Given the description of an element on the screen output the (x, y) to click on. 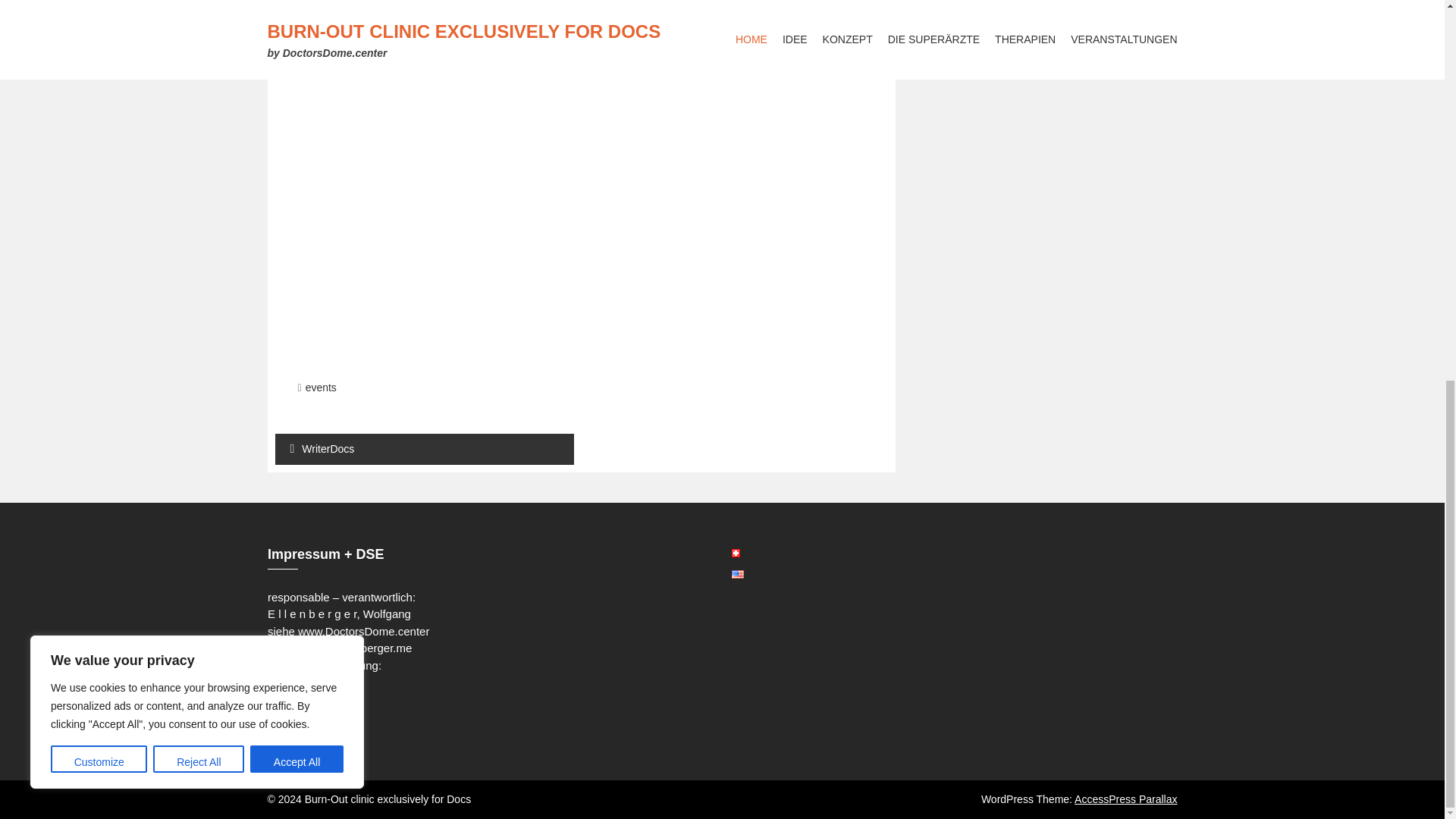
WordPress Free Themes (1125, 799)
UID (276, 714)
AccessPress Parallax (1125, 799)
Customize (98, 50)
Reject All (198, 50)
events (320, 386)
Accept All (296, 50)
WriterDocs (424, 449)
